Given the description of an element on the screen output the (x, y) to click on. 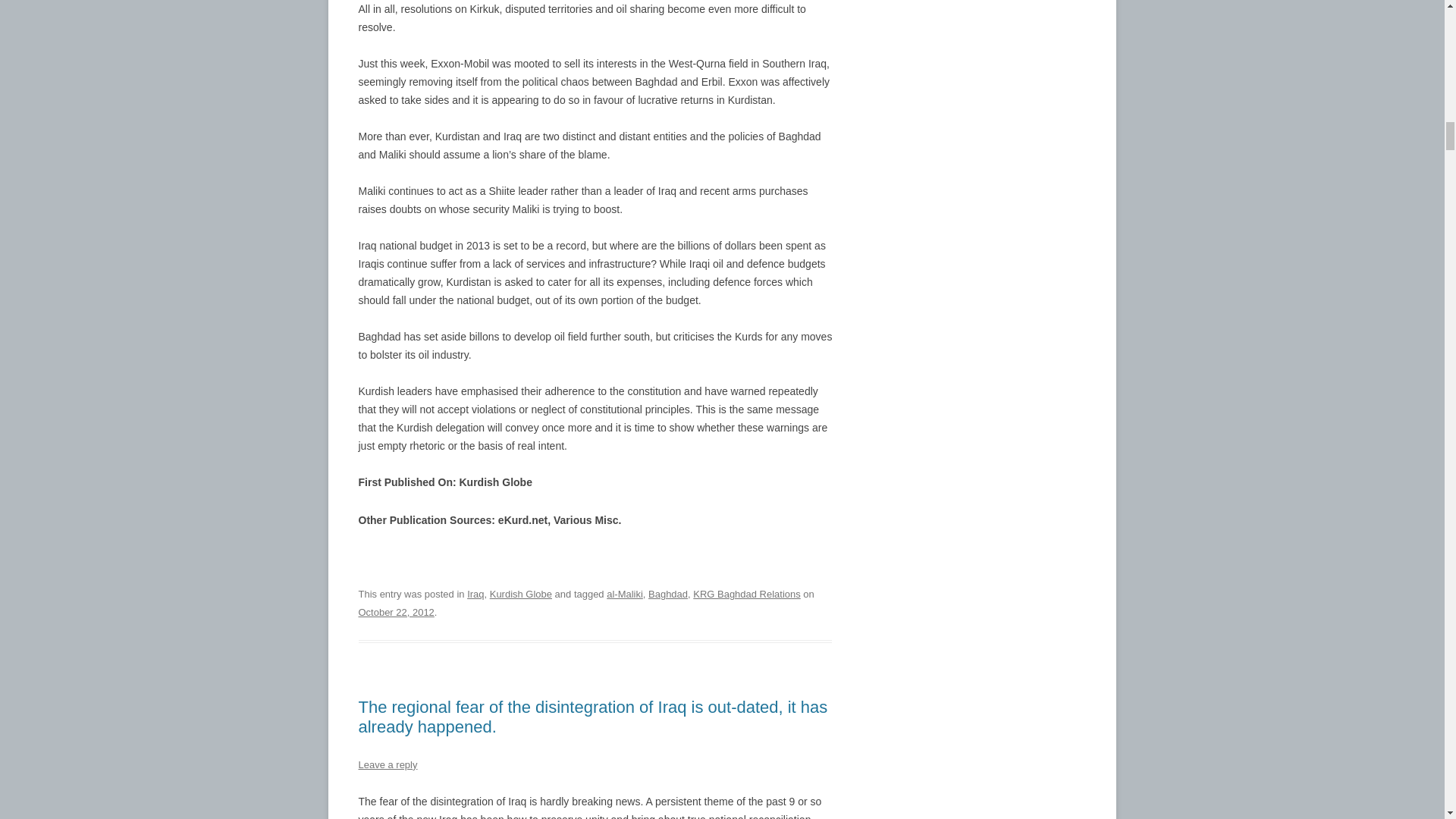
Iraq (475, 593)
KRG Baghdad Relations (746, 593)
Baghdad (667, 593)
al-Maliki (625, 593)
Leave a reply (387, 764)
Kurdish Globe (520, 593)
12:00 am (395, 612)
October 22, 2012 (395, 612)
